Given the description of an element on the screen output the (x, y) to click on. 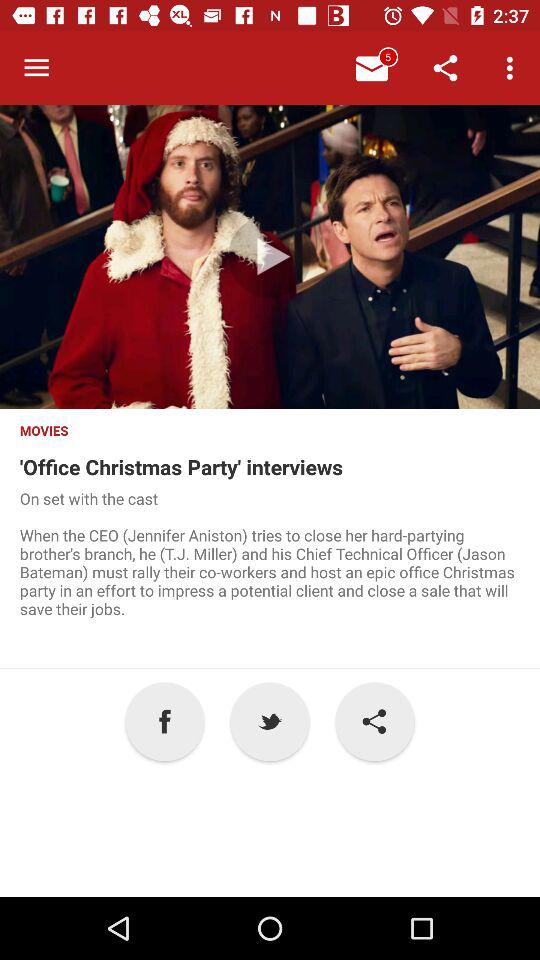
open item above a item (270, 578)
